Given the description of an element on the screen output the (x, y) to click on. 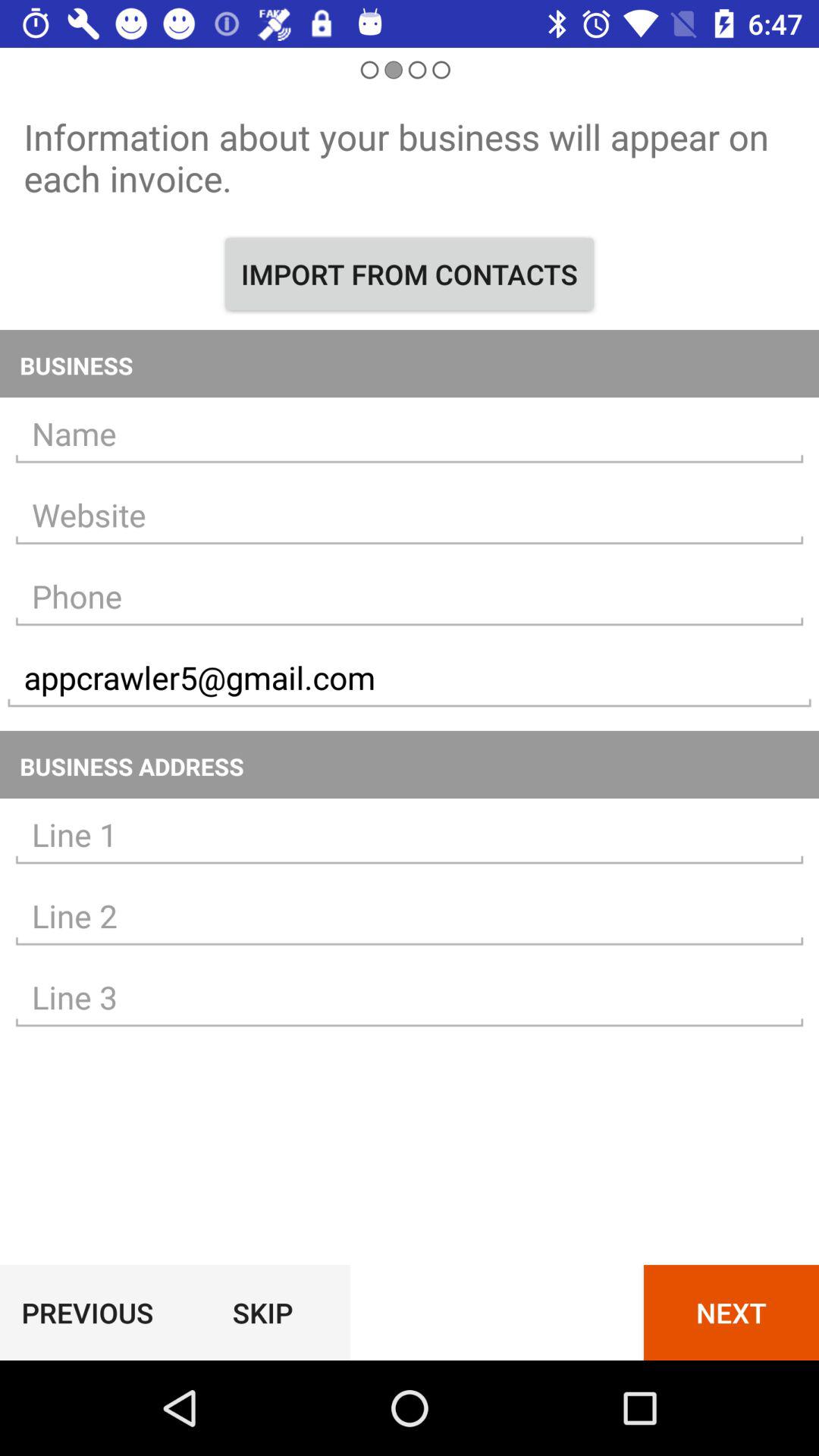
type address (409, 916)
